Given the description of an element on the screen output the (x, y) to click on. 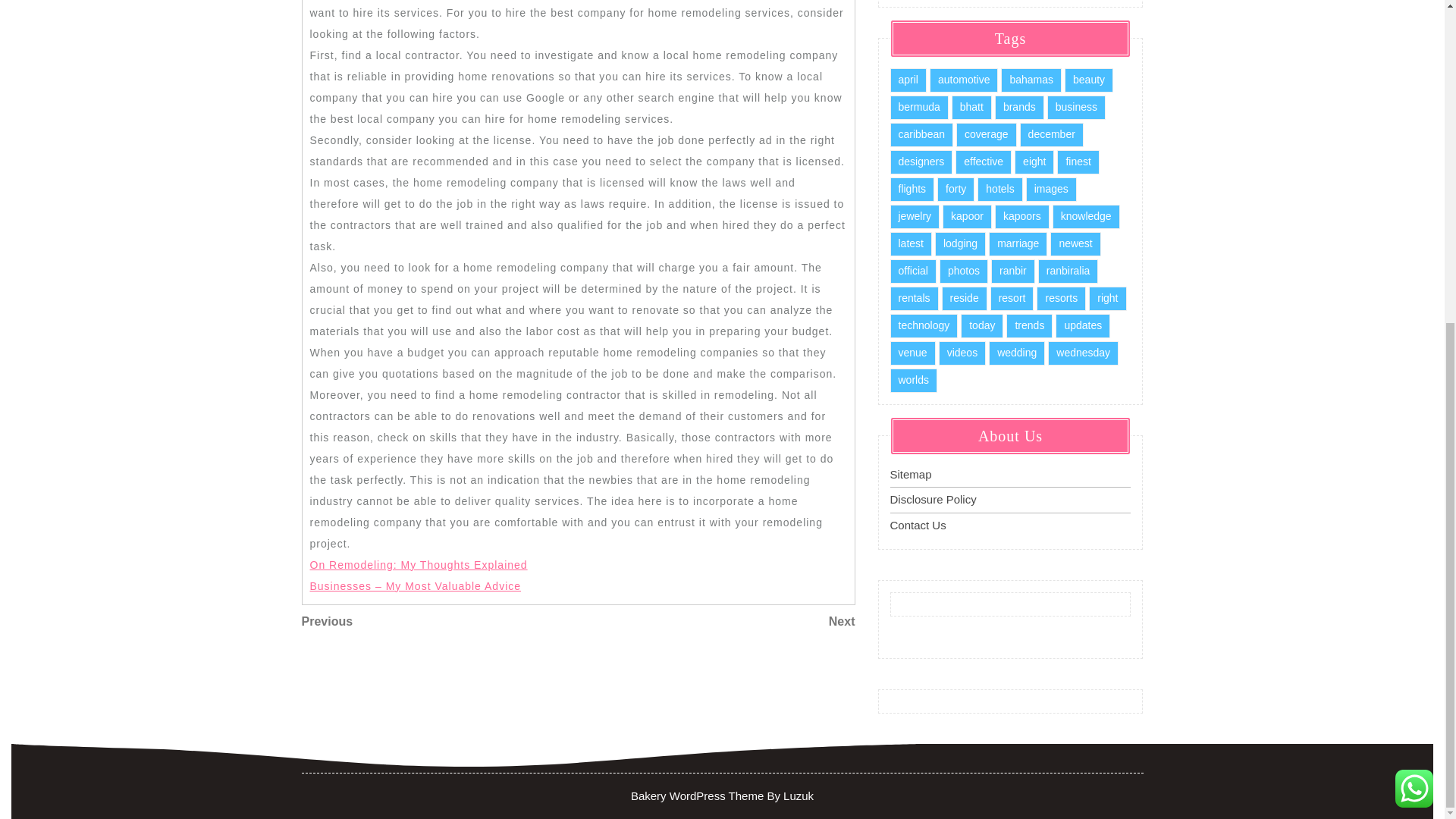
beauty (1088, 79)
hotels (999, 188)
april (907, 79)
effective (983, 161)
designers (921, 161)
caribbean (921, 134)
coverage (986, 134)
bermuda (919, 106)
december (1051, 134)
automotive (963, 79)
